Given the description of an element on the screen output the (x, y) to click on. 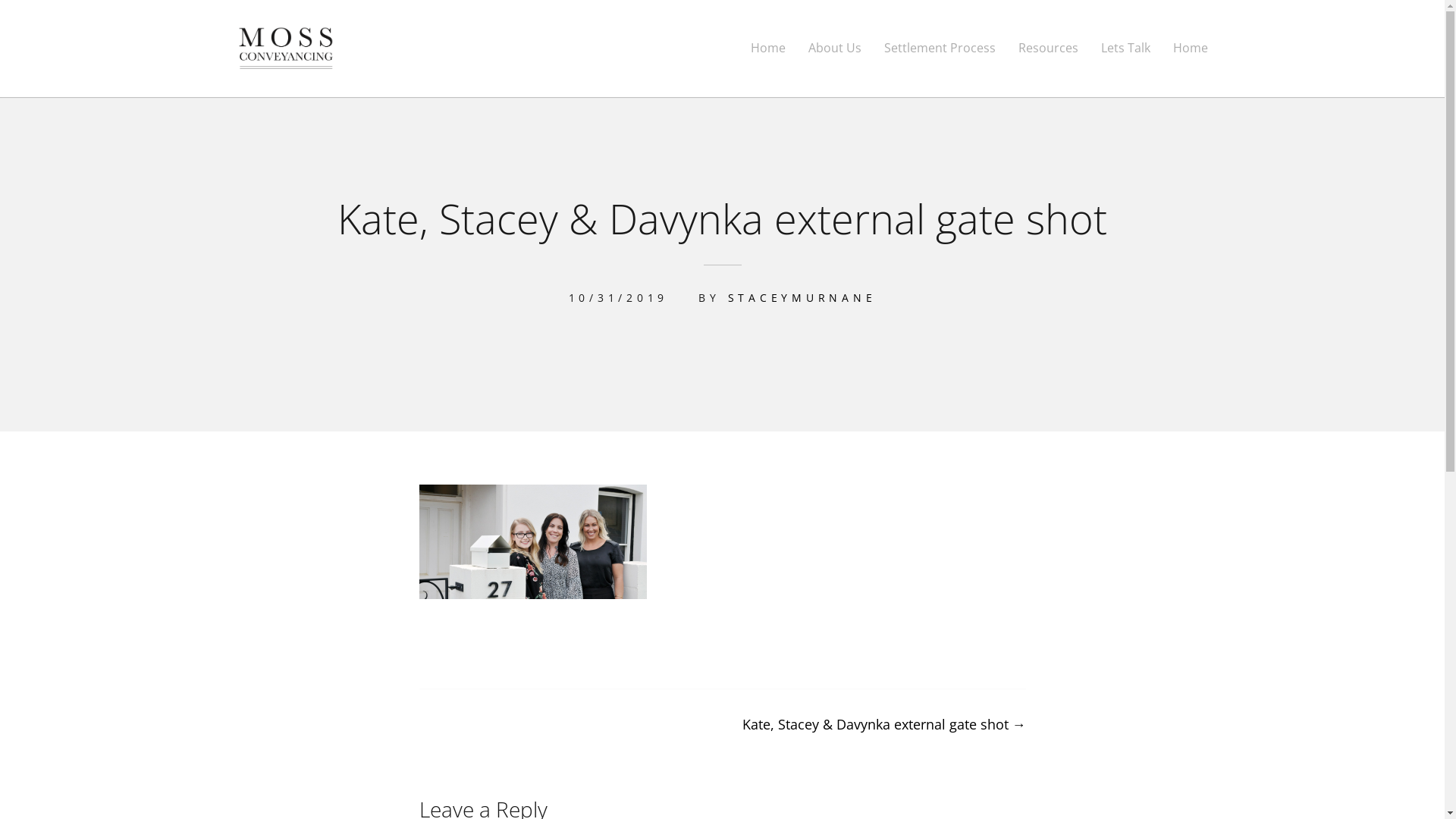
About Us Element type: text (834, 48)
Moss Conveyancing Element type: text (335, 88)
STACEYMURNANE Element type: text (802, 297)
Home Element type: text (1189, 48)
Settlement Process Element type: text (939, 48)
Resources Element type: text (1047, 48)
Lets Talk Element type: text (1125, 48)
Home Element type: text (767, 48)
